Given the description of an element on the screen output the (x, y) to click on. 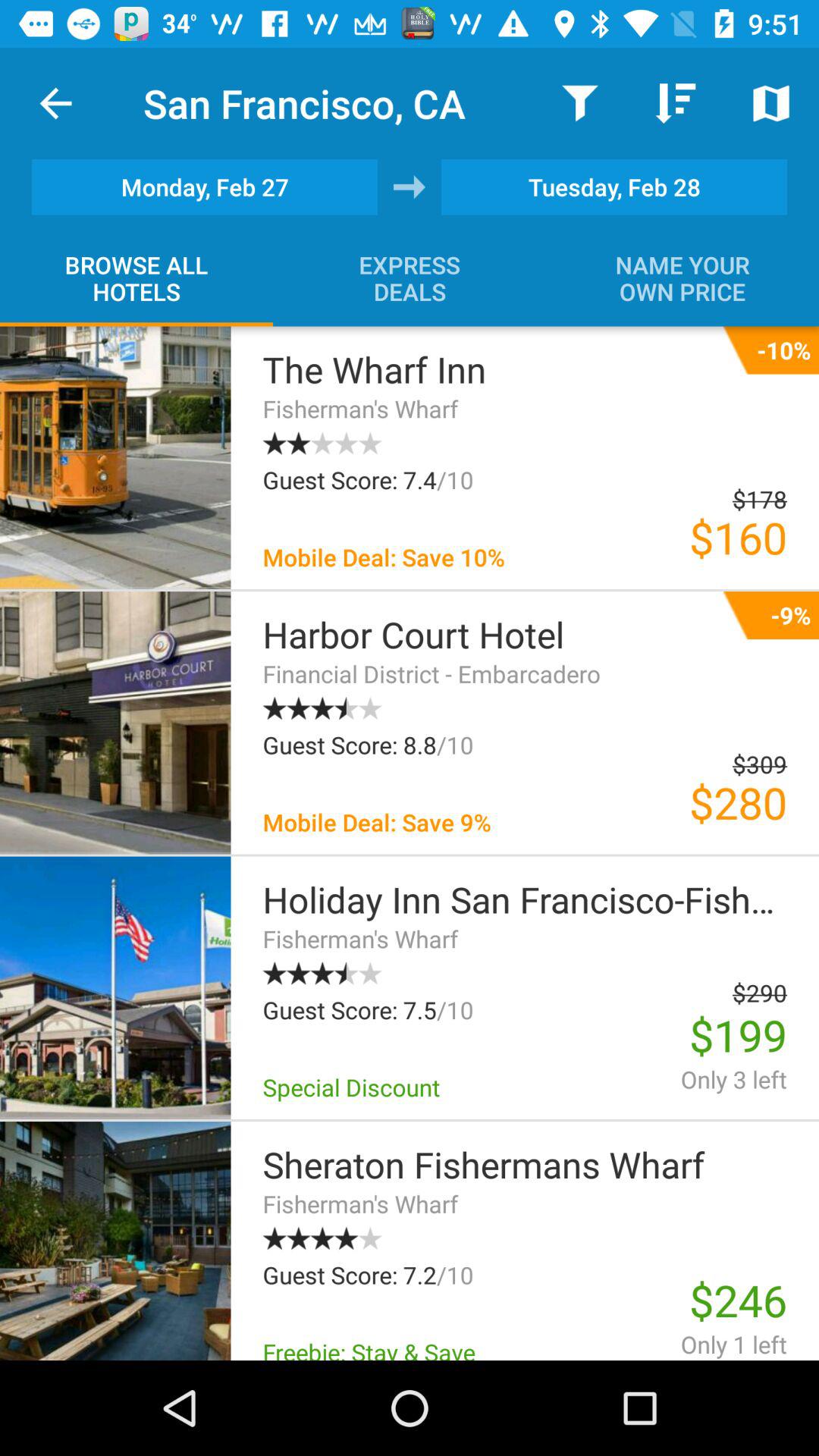
turn off the icon next to the san francisco, ca item (55, 103)
